Given the description of an element on the screen output the (x, y) to click on. 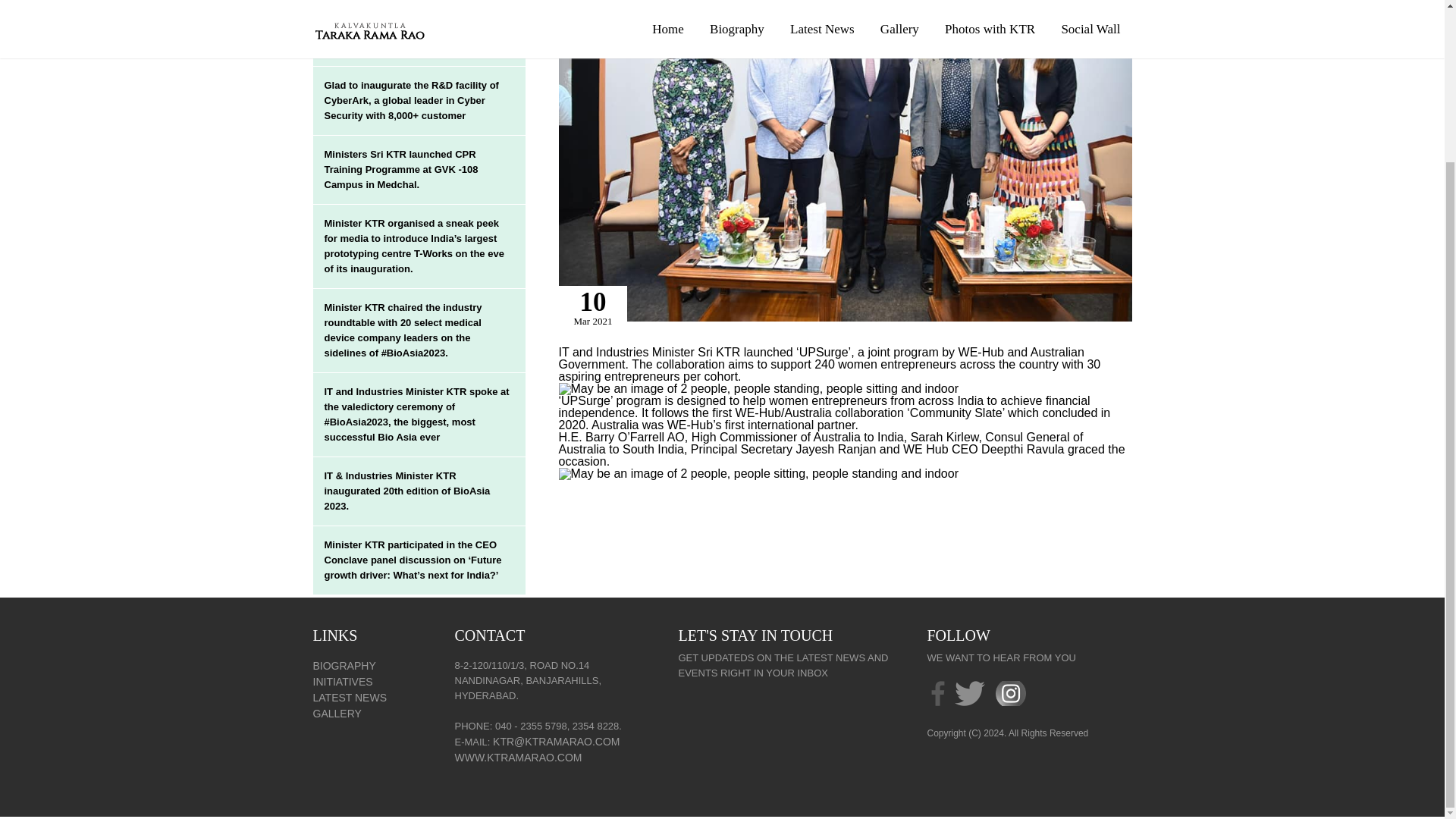
BIOGRAPHY (344, 665)
GALLERY (337, 713)
LATEST NEWS (350, 697)
WWW.KTRAMARAO.COM (518, 757)
INITIATIVES (342, 681)
